Given the description of an element on the screen output the (x, y) to click on. 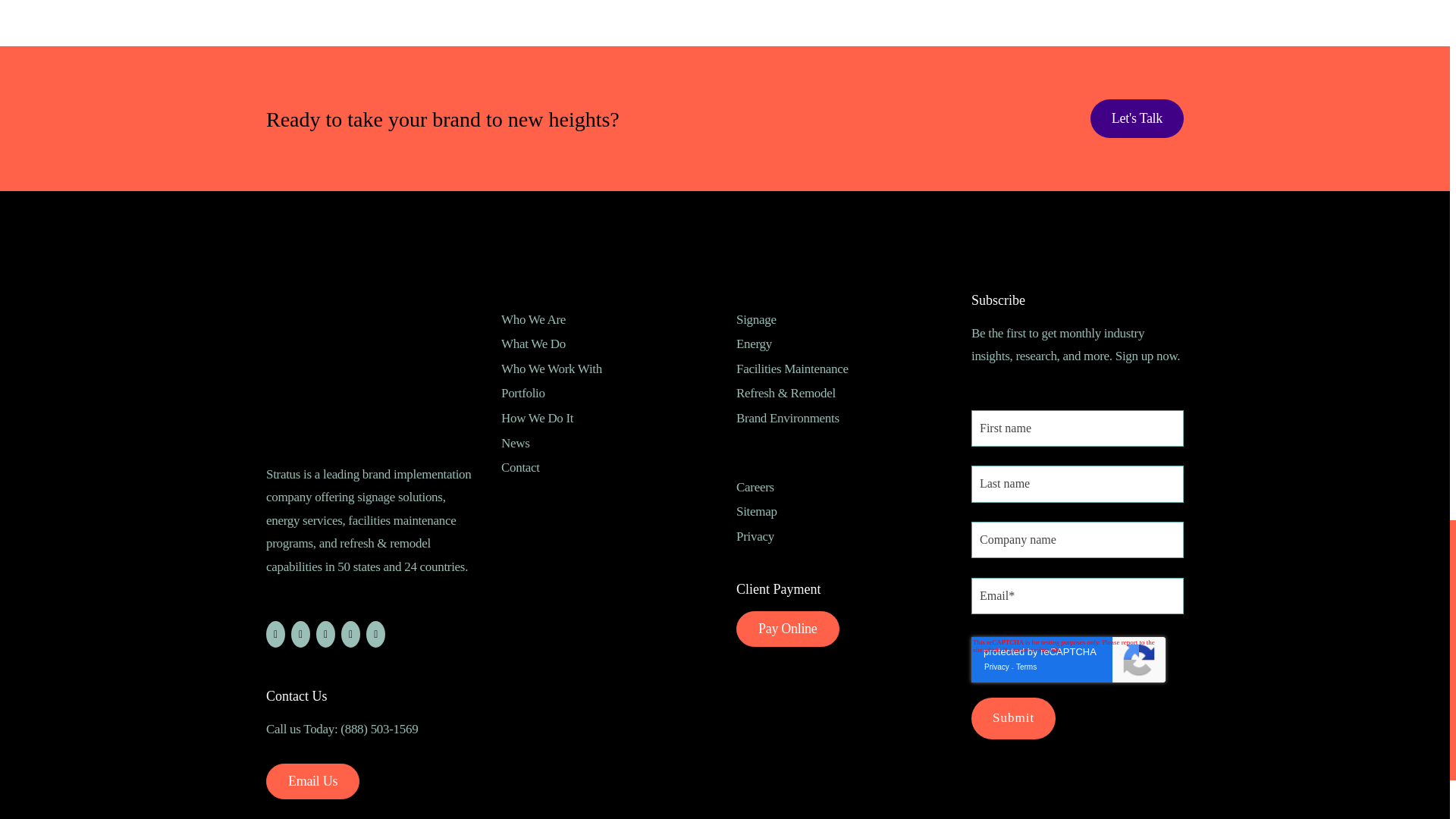
reCAPTCHA (1068, 659)
Submit (1013, 718)
